Given the description of an element on the screen output the (x, y) to click on. 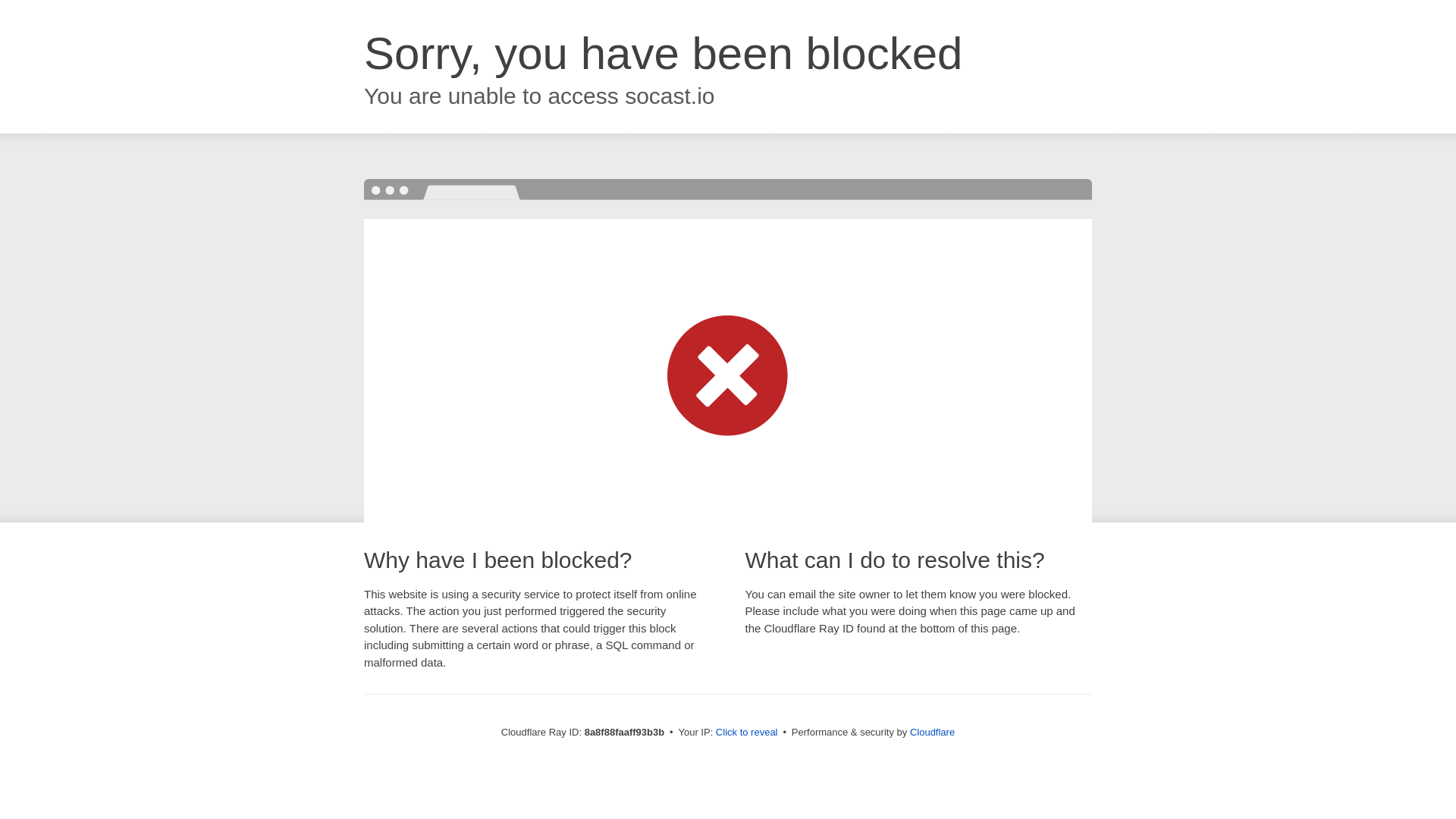
Cloudflare (932, 731)
Click to reveal (746, 732)
